Given the description of an element on the screen output the (x, y) to click on. 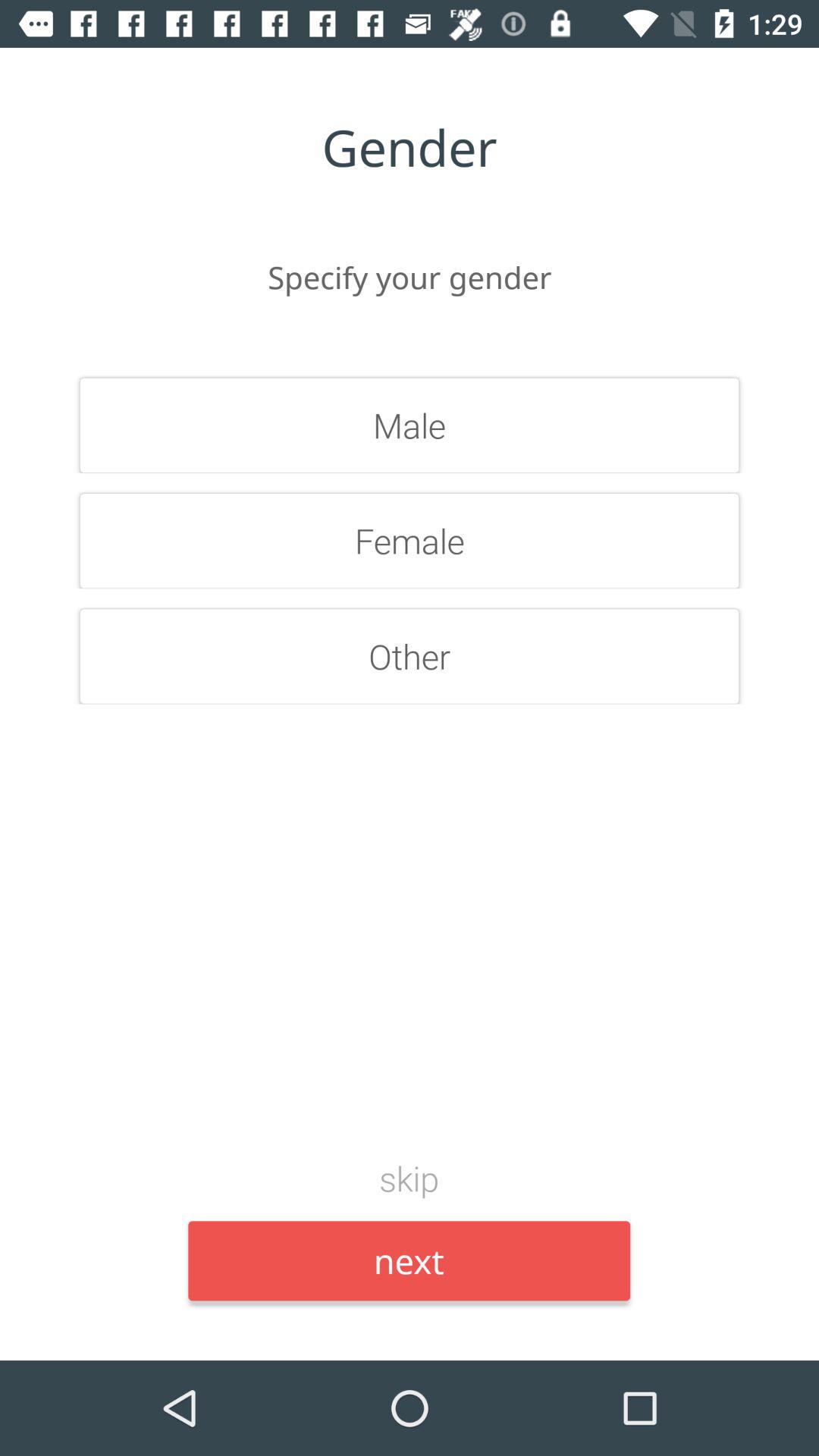
turn off the icon below other item (409, 1178)
